Given the description of an element on the screen output the (x, y) to click on. 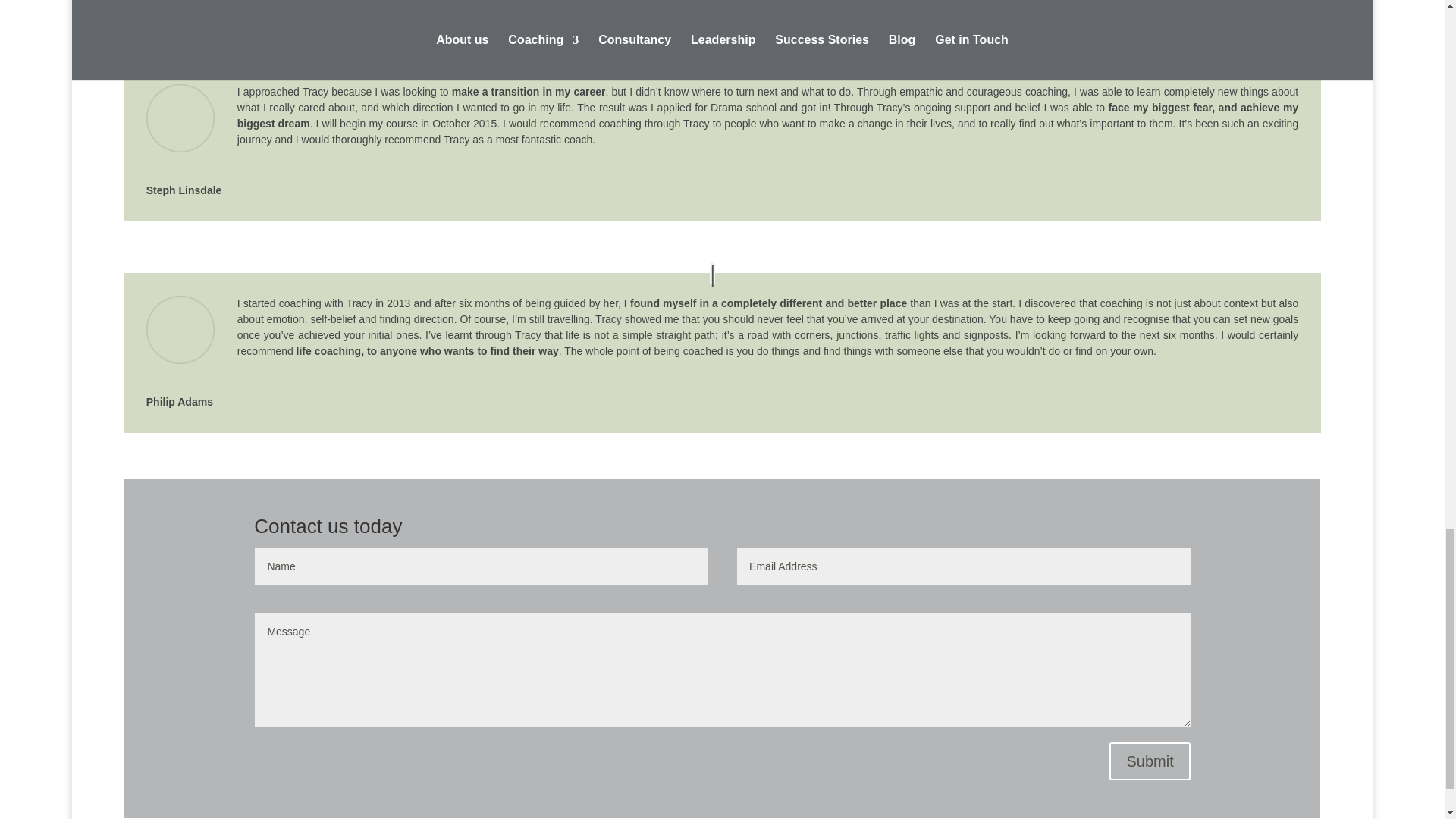
Submit (1149, 761)
